Given the description of an element on the screen output the (x, y) to click on. 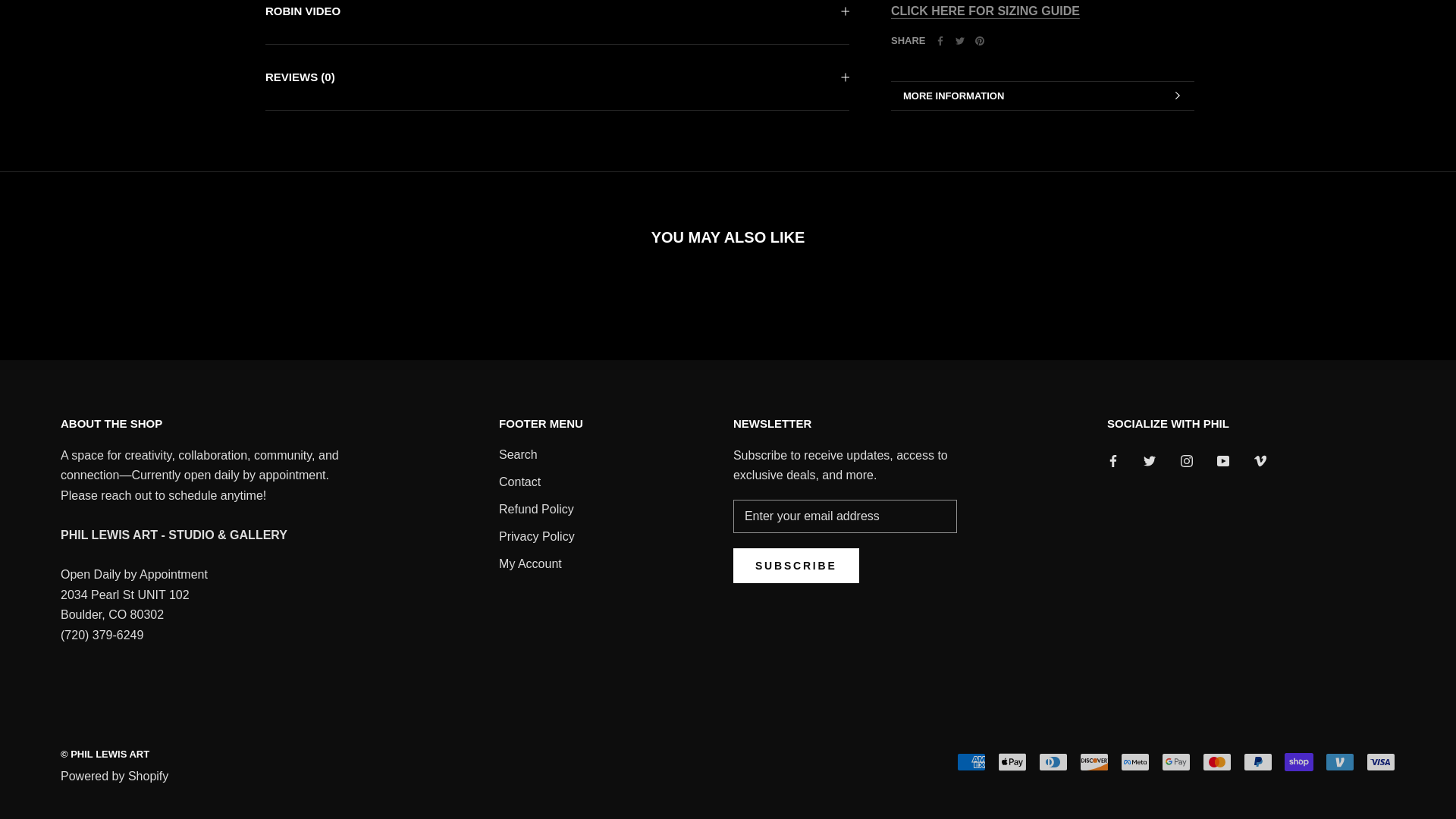
Mastercard (1216, 761)
Diners Club (1053, 761)
Discover (1094, 761)
Shop Pay (1298, 761)
Meta Pay (1135, 761)
Google Pay (1176, 761)
PayPal (1257, 761)
Apple Pay (1011, 761)
American Express (970, 761)
